Given the description of an element on the screen output the (x, y) to click on. 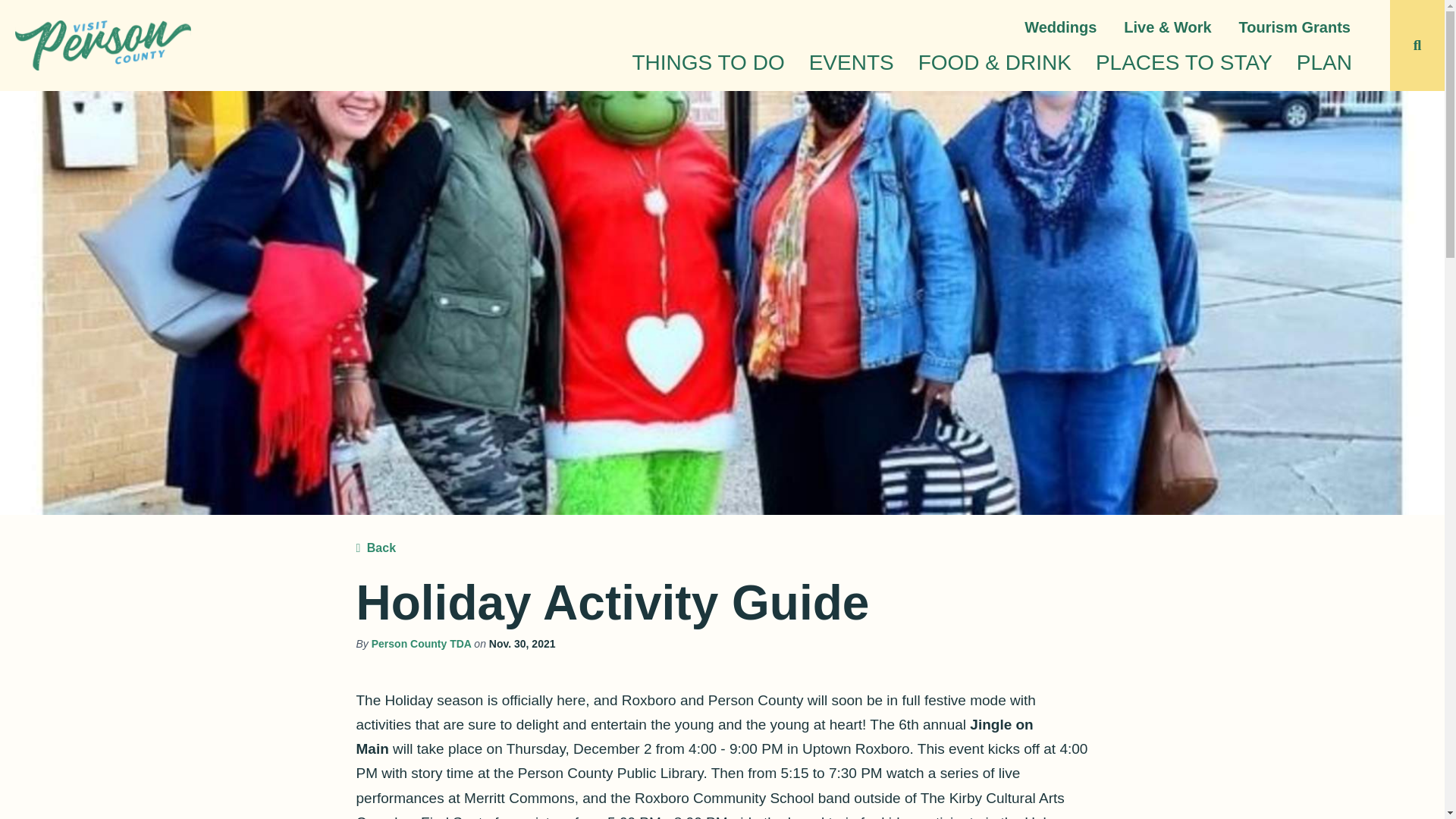
Tourism Grants (1294, 19)
THINGS TO DO (708, 62)
Weddings (1059, 19)
PLAN (1324, 62)
Person County TDA (421, 644)
Back (376, 547)
PLACES TO STAY (1183, 62)
EVENTS (850, 62)
